Given the description of an element on the screen output the (x, y) to click on. 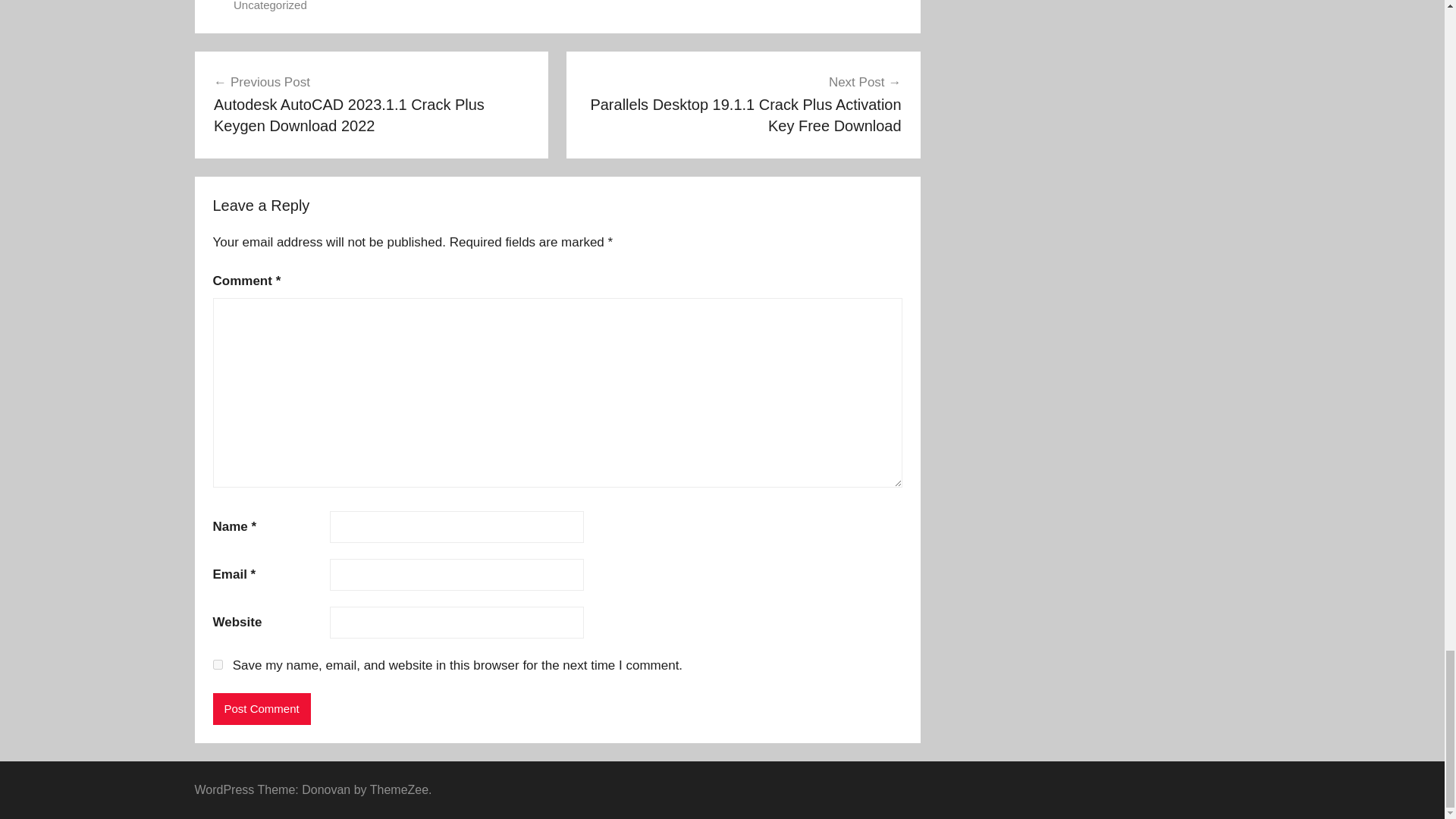
Post Comment (261, 707)
yes (217, 664)
Post Comment (261, 707)
Uncategorized (269, 5)
